Given the description of an element on the screen output the (x, y) to click on. 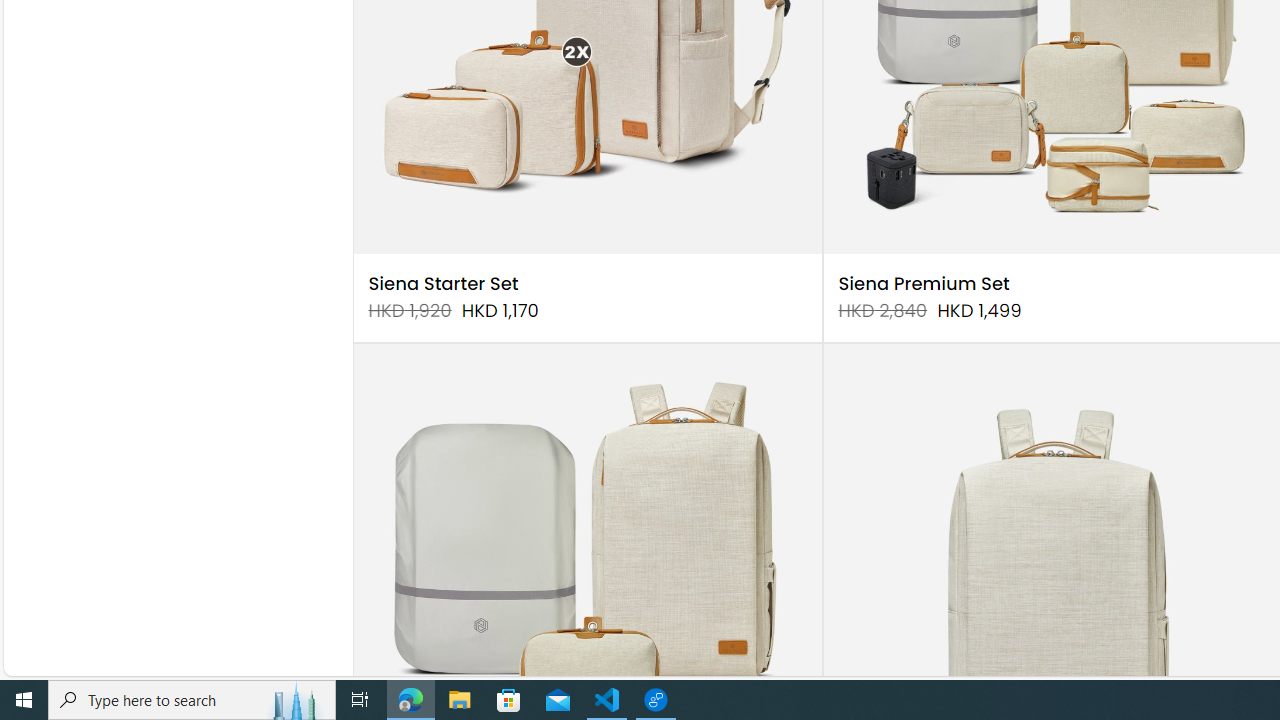
Siena Starter Set (443, 283)
Siena Premium Set (923, 283)
